Given the description of an element on the screen output the (x, y) to click on. 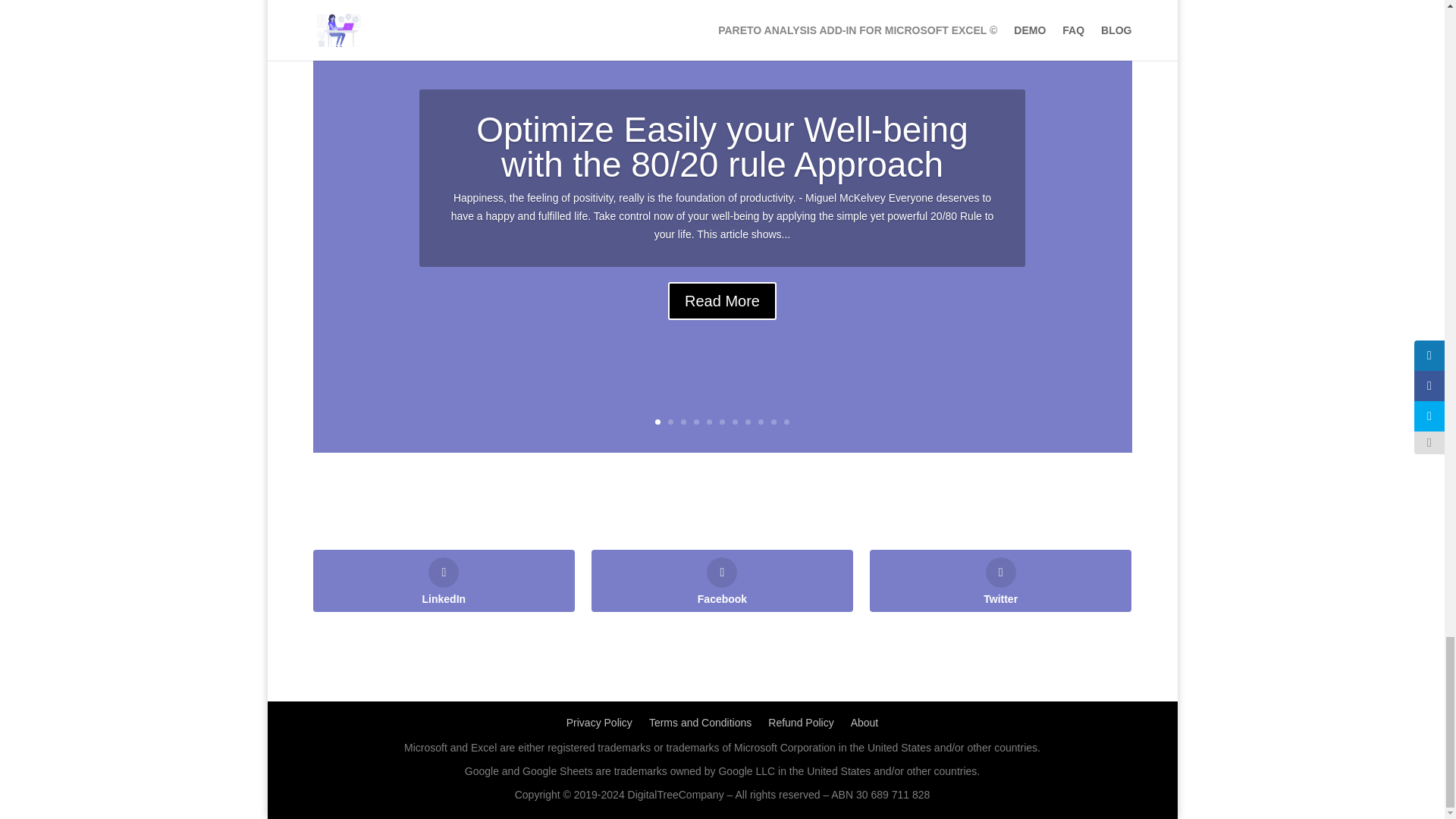
Read More (722, 346)
